Given the description of an element on the screen output the (x, y) to click on. 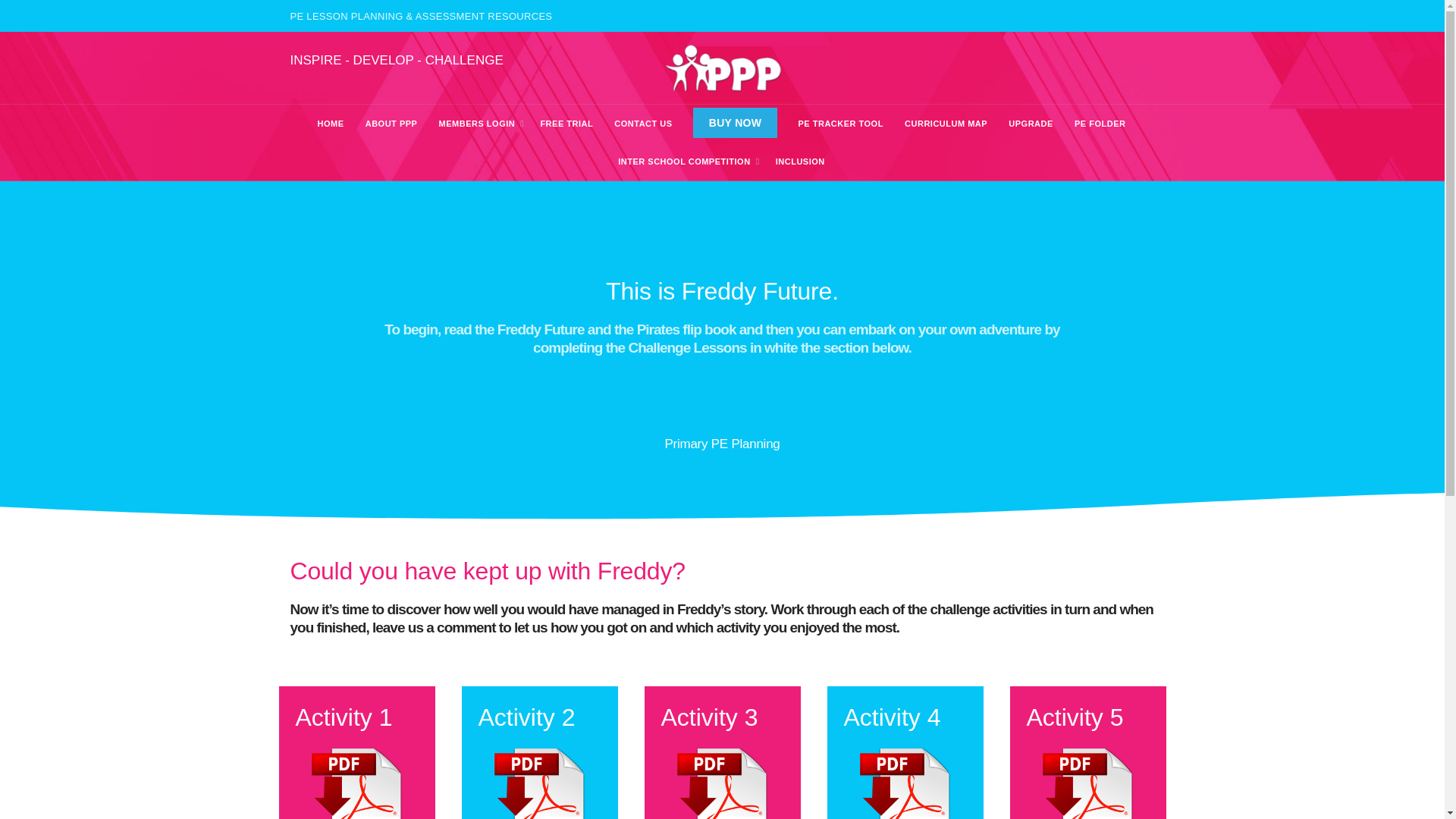
CURRICULUM MAP (946, 123)
INTER SCHOOL COMPETITION (684, 161)
Click here to download PDF (904, 782)
Click here to download PDF (357, 782)
MEMBERS LOGIN (477, 123)
Click here to download PDF (722, 782)
Click here to download PDF (538, 782)
ABOUT PPP (391, 123)
INCLUSION (799, 161)
UPGRADE (1030, 123)
